Given the description of an element on the screen output the (x, y) to click on. 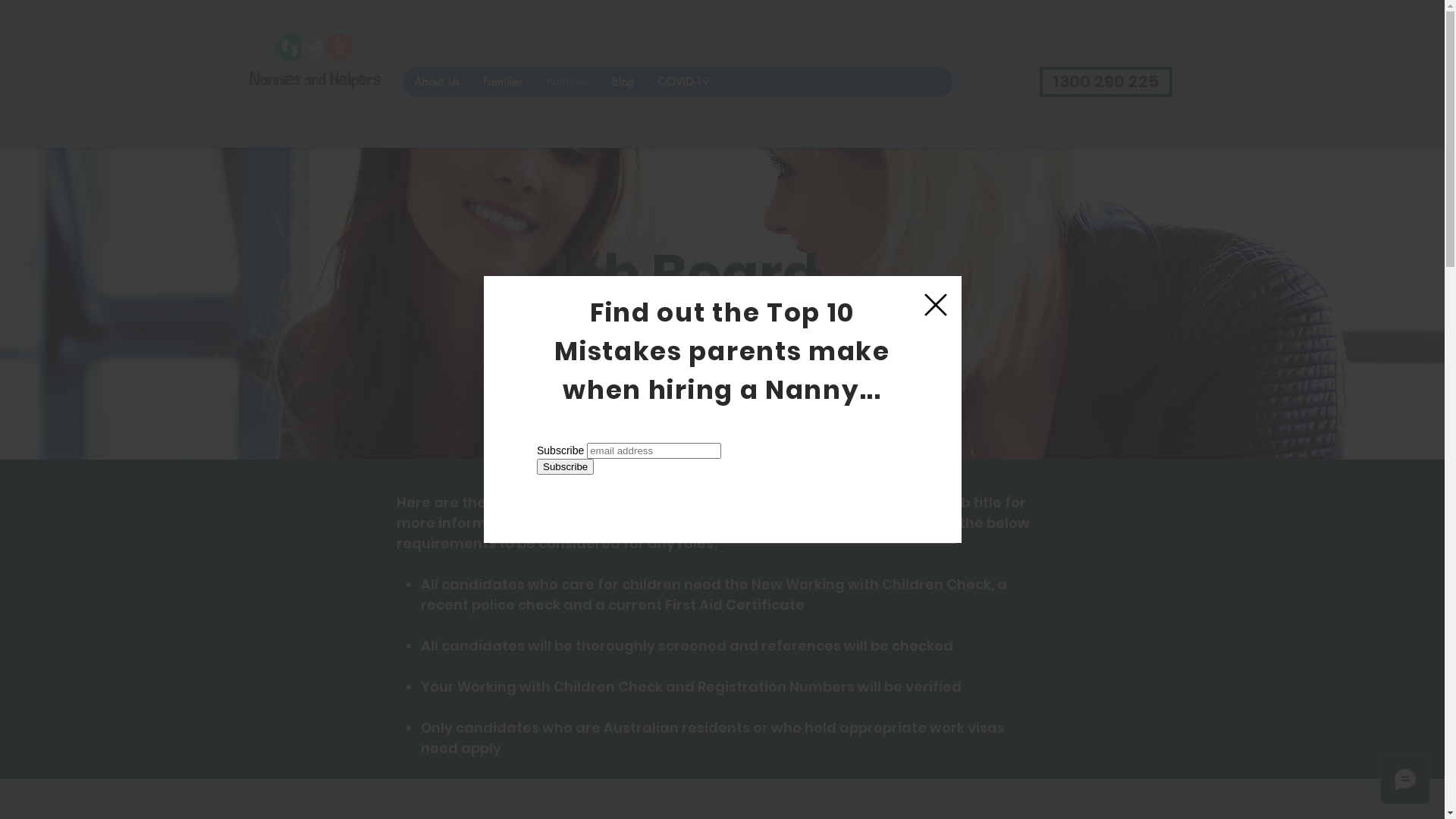
Families Element type: text (501, 81)
Back to site Element type: hover (934, 304)
About Us Element type: text (435, 81)
Blog Element type: text (621, 81)
COVID-19 Element type: text (681, 81)
Embedded Content Element type: hover (722, 486)
1300 290 225 Element type: text (1104, 81)
Nannies Element type: text (566, 81)
